Given the description of an element on the screen output the (x, y) to click on. 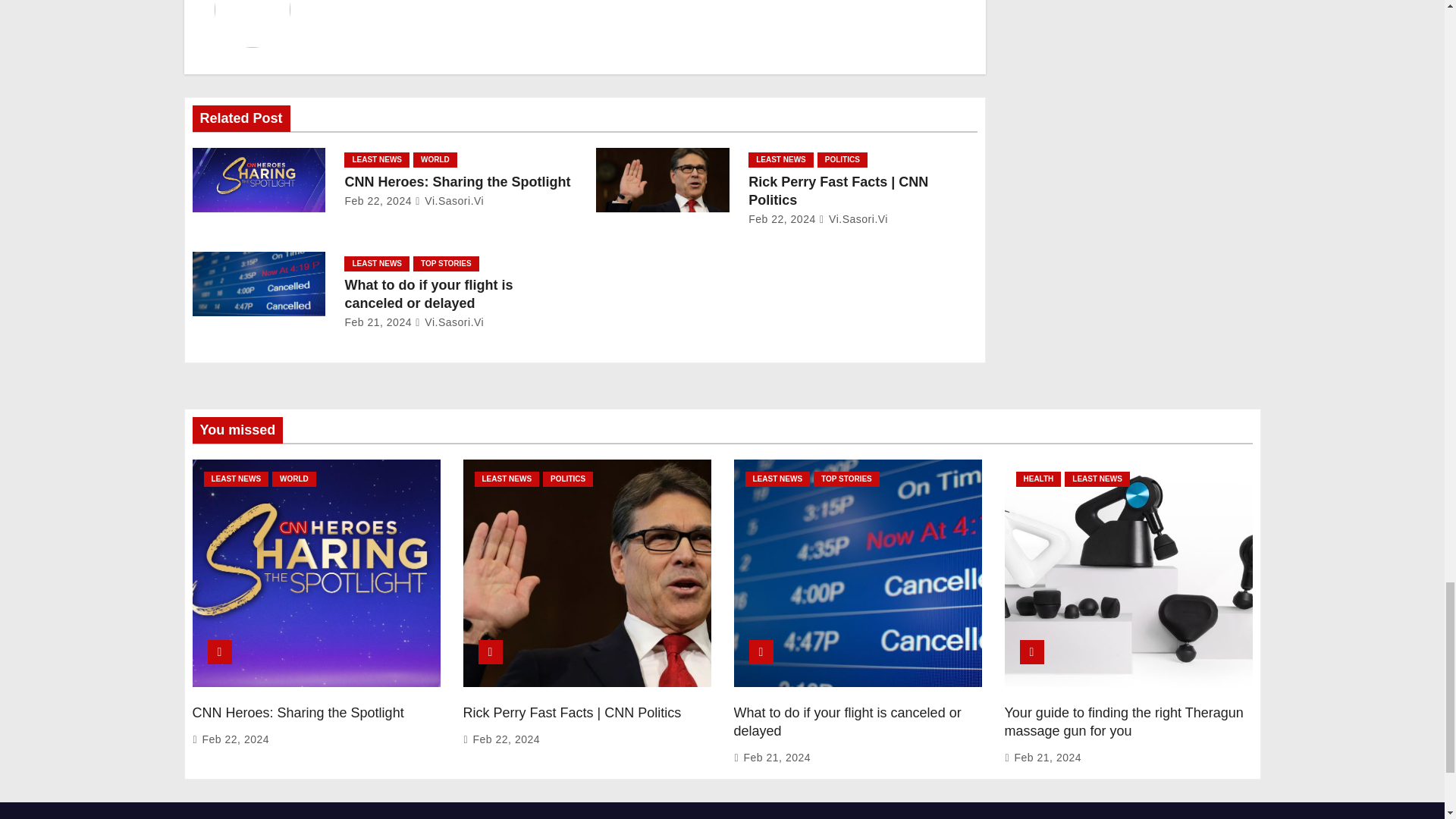
Permalink to: CNN Heroes: Sharing the Spotlight (298, 712)
Permalink to: CNN Heroes: Sharing the Spotlight (456, 181)
